Given the description of an element on the screen output the (x, y) to click on. 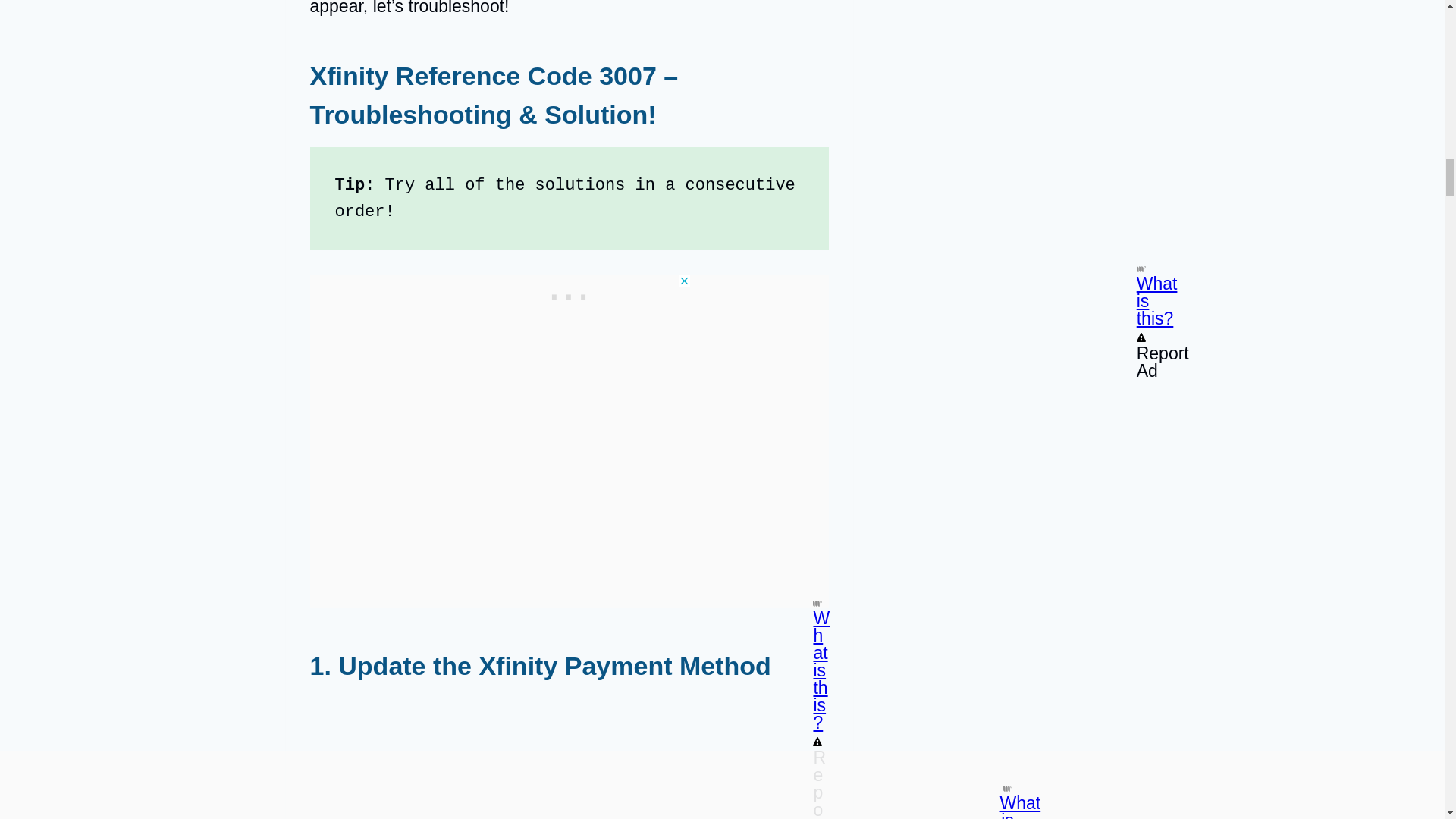
Xfinity Reference Code 3007 - Quick Fix Guide 3 (568, 758)
3rd party ad content (569, 293)
